Given the description of an element on the screen output the (x, y) to click on. 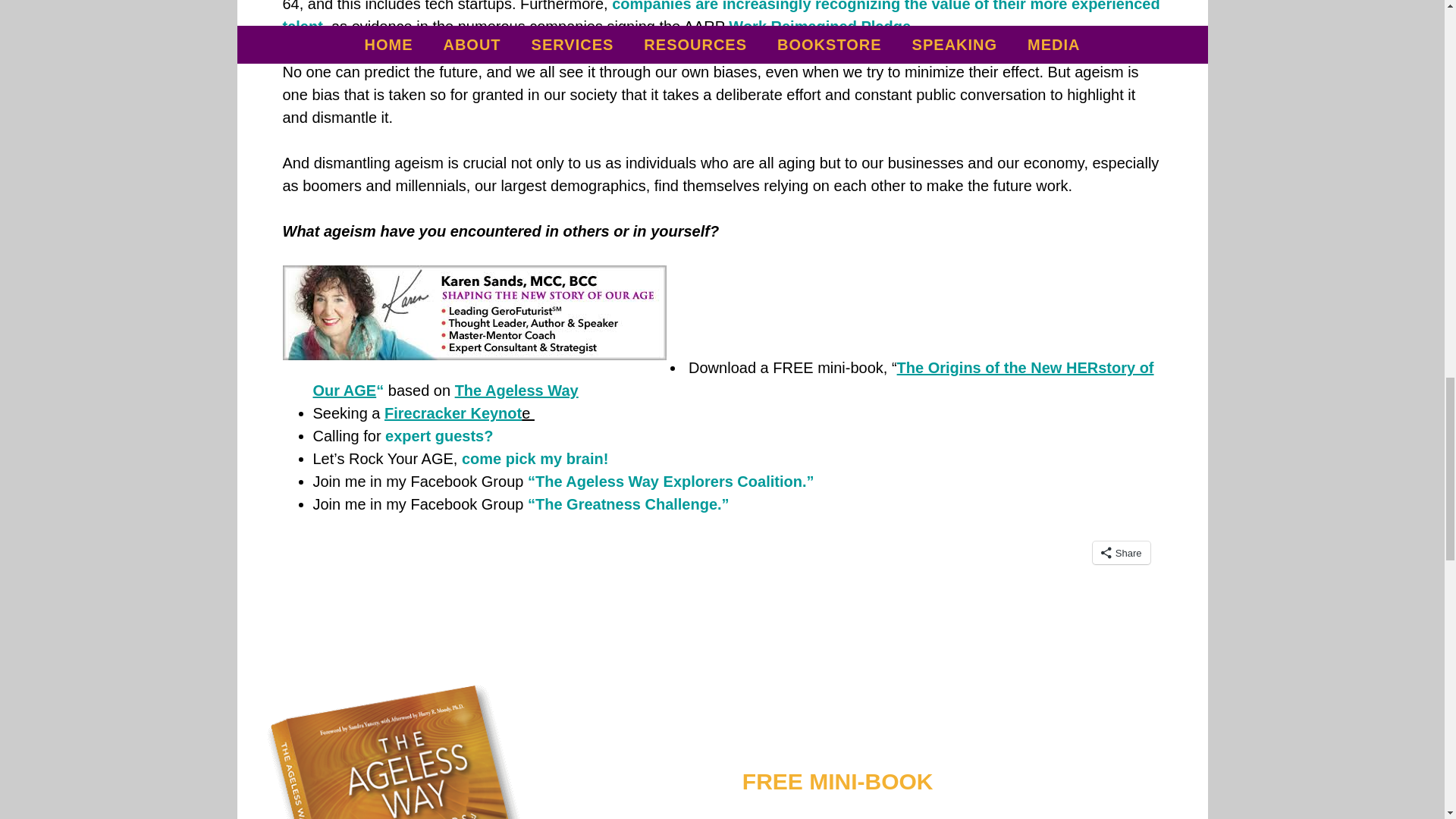
 come pick my brain! (532, 458)
Firecracker Keynot (452, 412)
Work Reimagined Pledge (820, 26)
Share (1121, 552)
expert guests? (439, 435)
The Ageless Way  (518, 390)
